Given the description of an element on the screen output the (x, y) to click on. 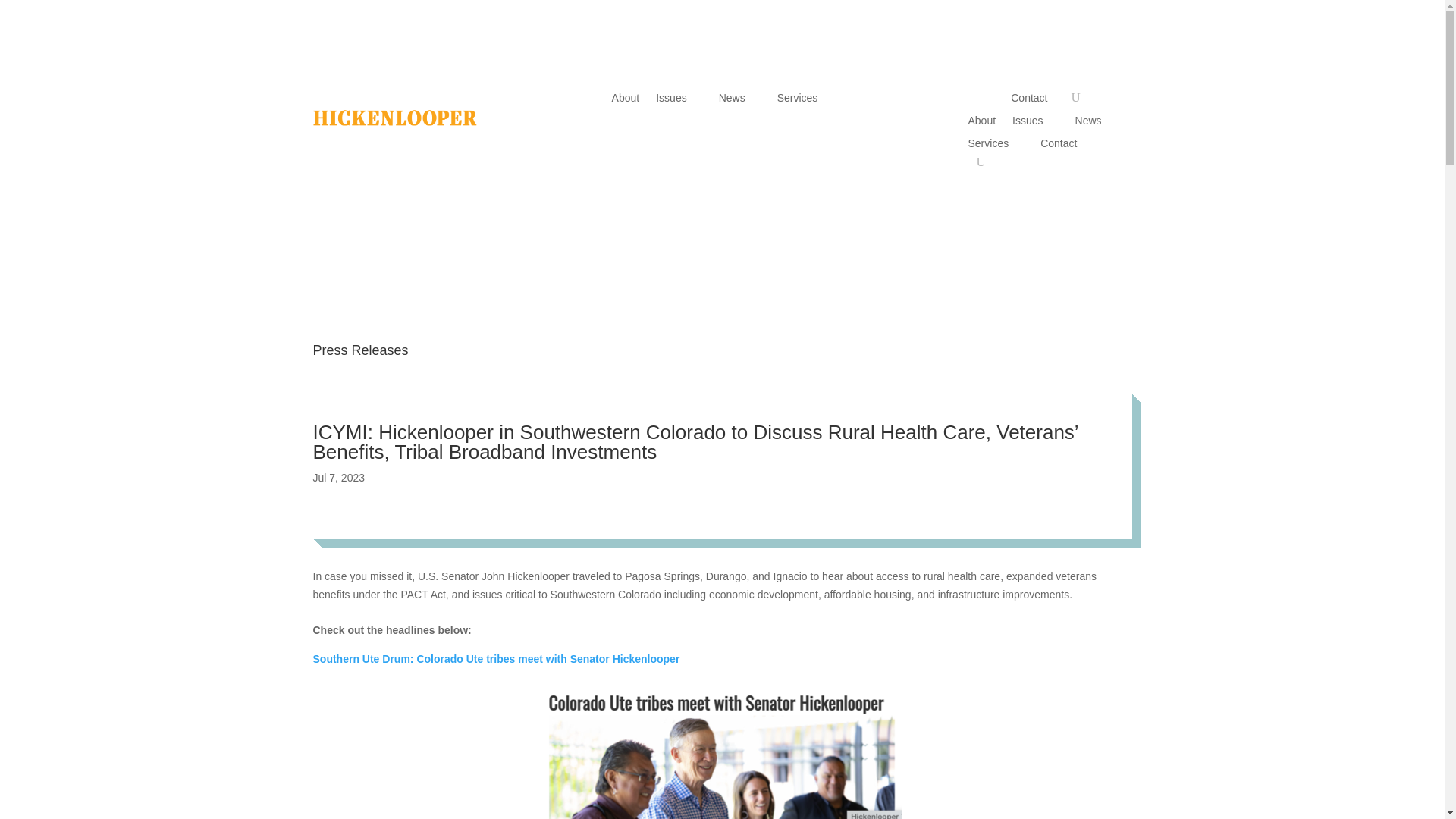
Services (804, 100)
Issues (678, 100)
Contact (1036, 100)
News (739, 100)
About (981, 123)
About (625, 100)
